Given the description of an element on the screen output the (x, y) to click on. 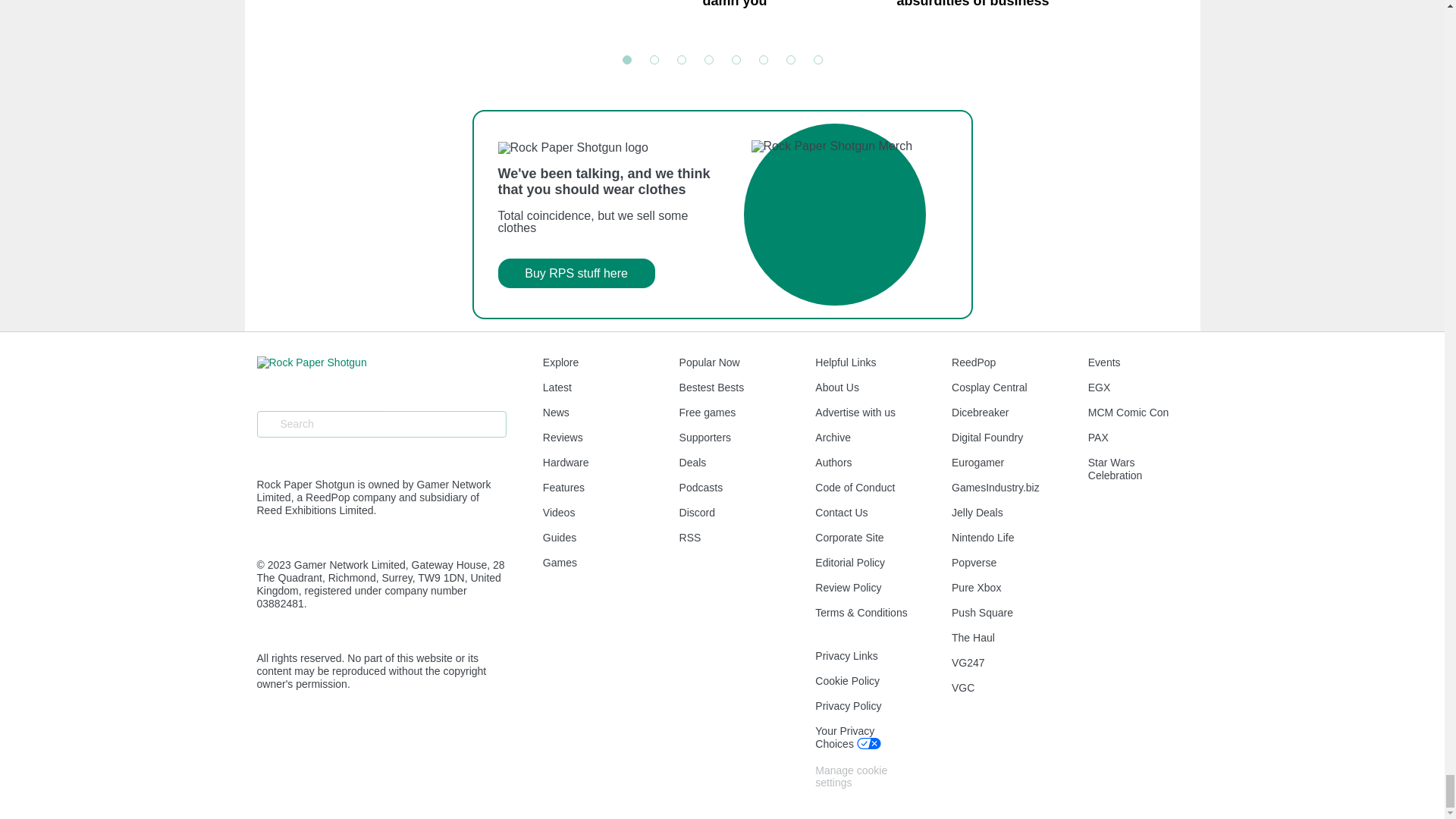
Check us out on Facebook (262, 742)
The 25 Best Multiplayer Games to play on PC in 2023 (722, 214)
What are we all playing this weekend? (599, 18)
The Sunday Papers (405, 18)
The best free PC games (1181, 18)
Look, just bloody play Loretta, damn you (792, 18)
